Given the description of an element on the screen output the (x, y) to click on. 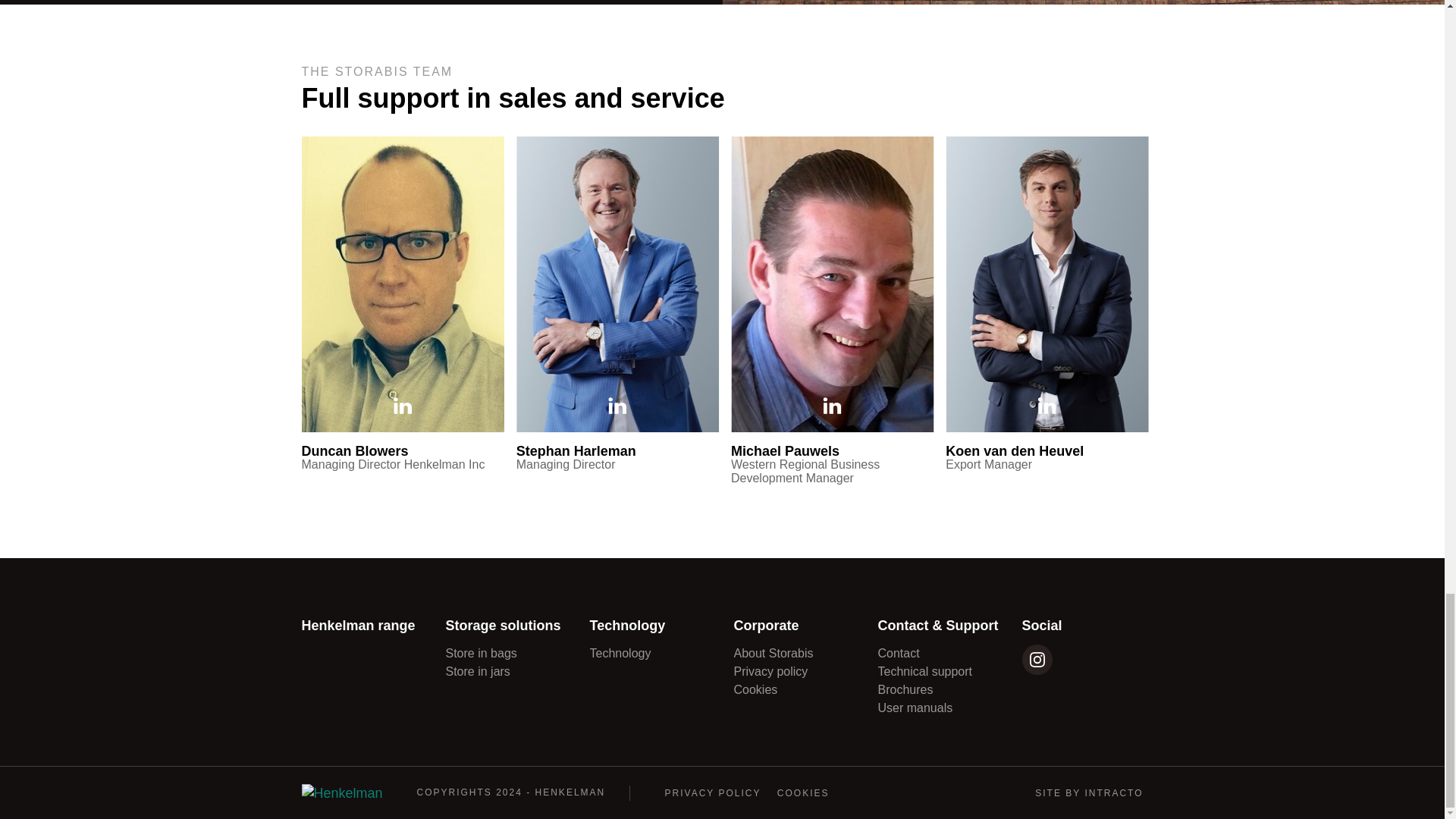
Store in bags (480, 653)
Technology (619, 653)
About Storabis (773, 653)
CONTACT US (348, 179)
Store in jars (478, 671)
